Given the description of an element on the screen output the (x, y) to click on. 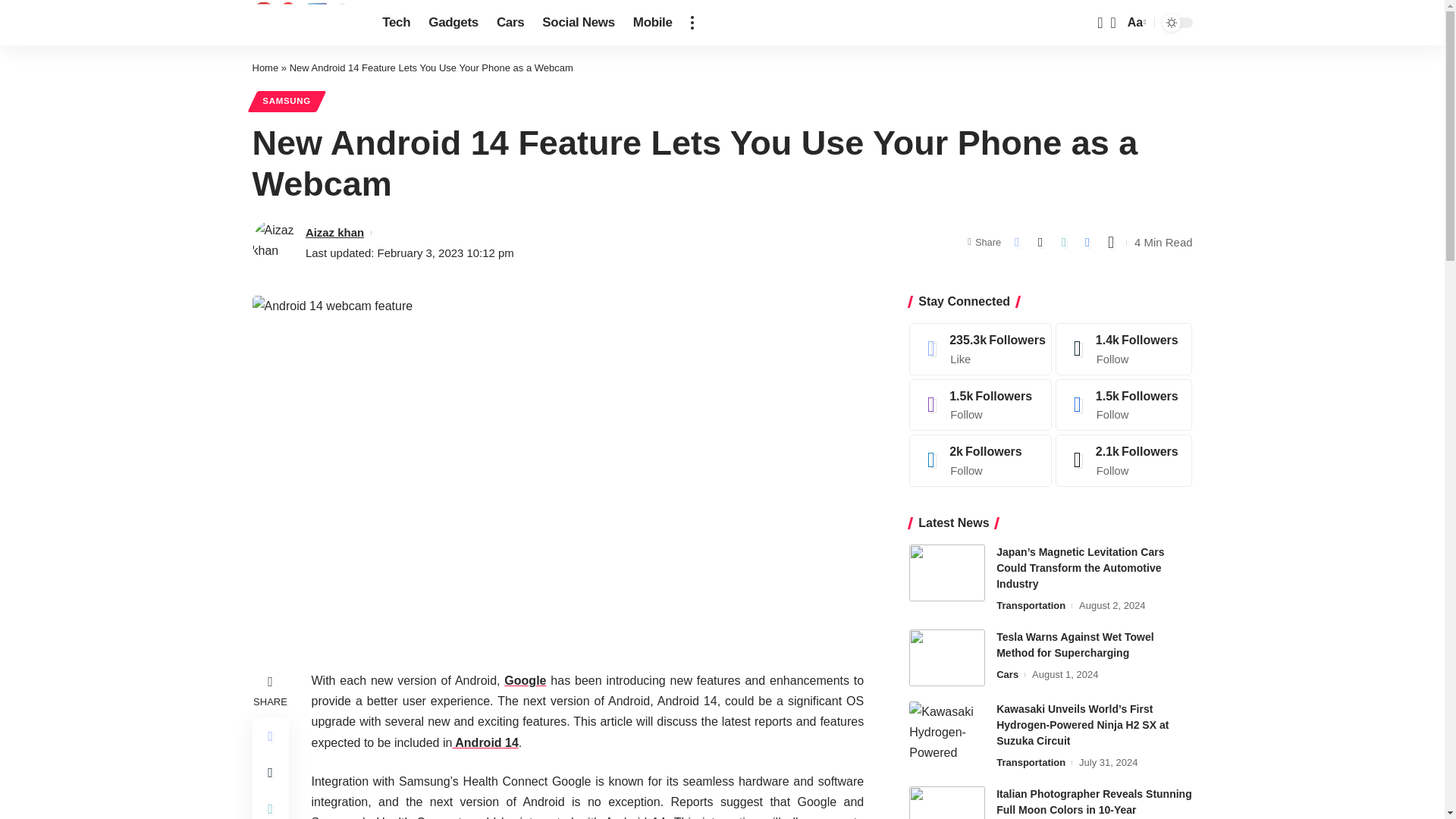
Tech Explorers (304, 22)
Gadgets (453, 22)
Tech (1135, 22)
Tesla Warns Against Wet Towel Method for Supercharging (395, 22)
Cars (946, 657)
Mobile (509, 22)
Social News (652, 22)
SAMSUNG (577, 22)
Home (285, 101)
